Given the description of an element on the screen output the (x, y) to click on. 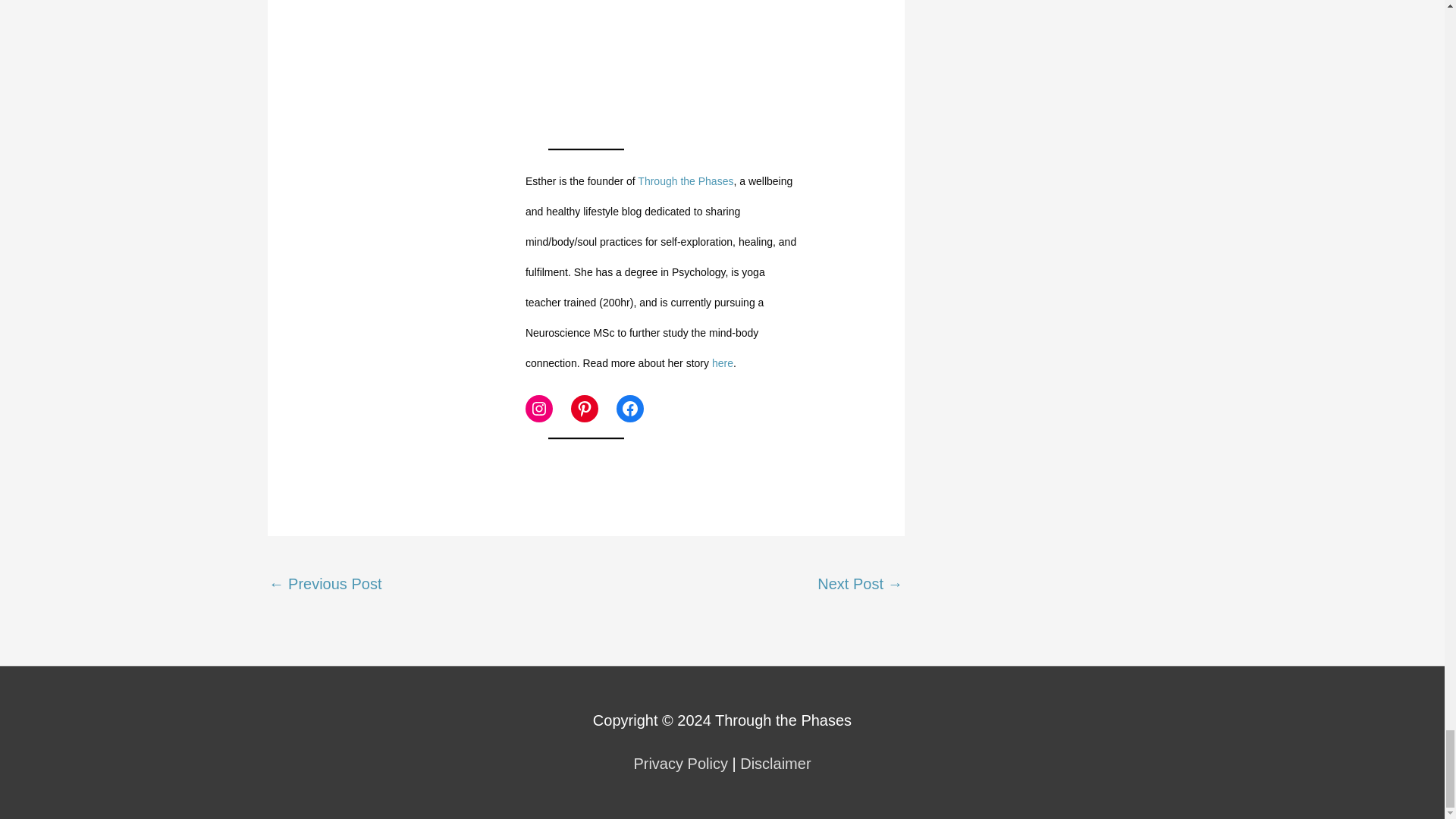
30 DAYS OF GRATITUDE JOURNAL PROMPTS (585, 66)
